Given the description of an element on the screen output the (x, y) to click on. 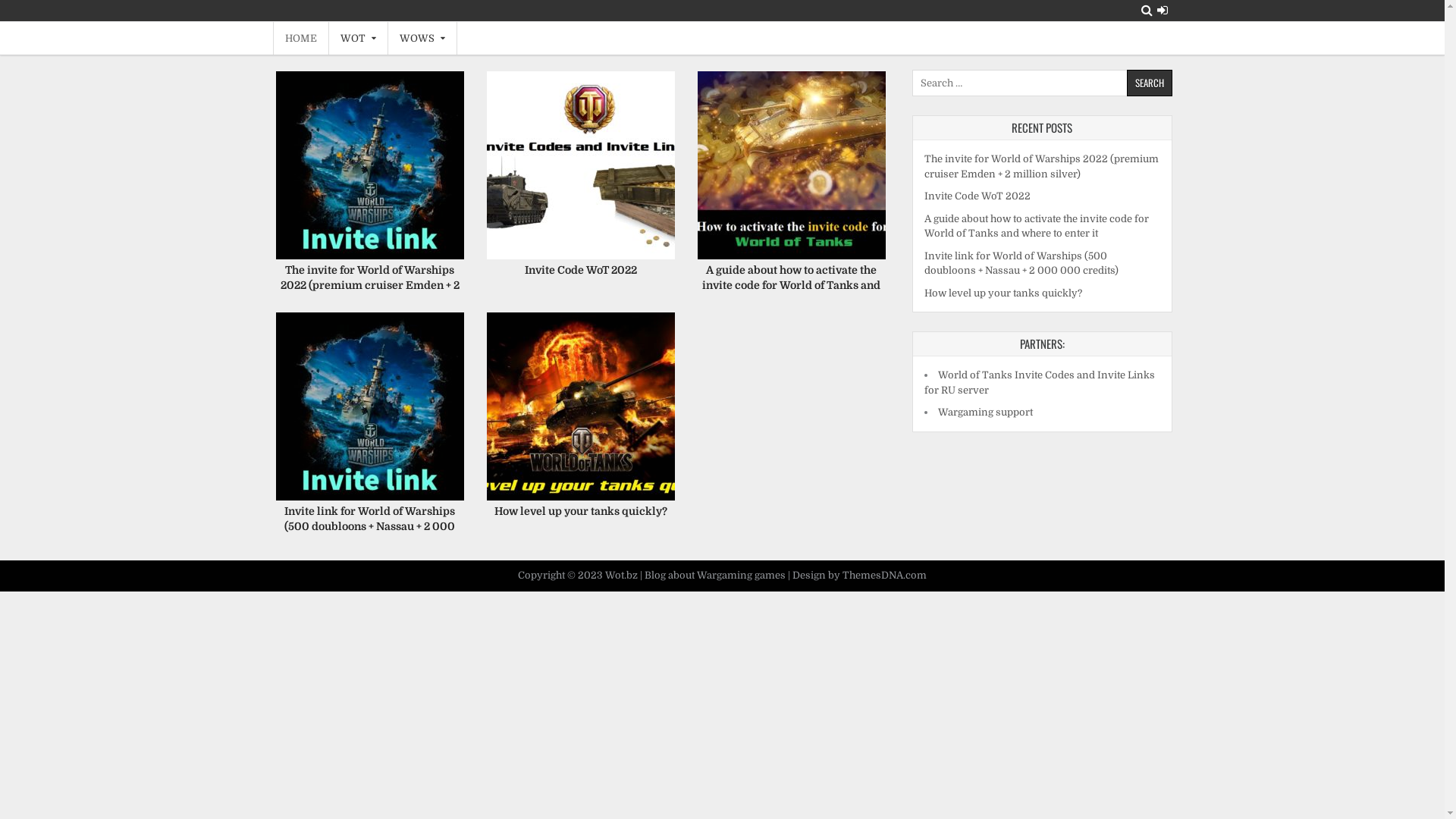
HOME Element type: text (301, 37)
Invite Code WoT 2022 Element type: hover (580, 165)
Invite Code WoT 2022 Element type: text (580, 269)
WOT Element type: text (358, 37)
Search Element type: text (1149, 82)
World of Tanks Invite Codes and Invite Links for RU server Element type: text (1038, 382)
How level up your tanks quickly? Element type: text (1002, 292)
How level up your tanks quickly? Element type: hover (580, 406)
WOWS Element type: text (422, 37)
How level up your tanks quickly? Element type: text (580, 511)
Search Element type: hover (1145, 9)
Invite Code WoT 2022 Element type: text (976, 195)
Login / Register Element type: hover (1162, 9)
Wargaming support Element type: text (984, 411)
Design by ThemesDNA.com Element type: text (859, 574)
